Given the description of an element on the screen output the (x, y) to click on. 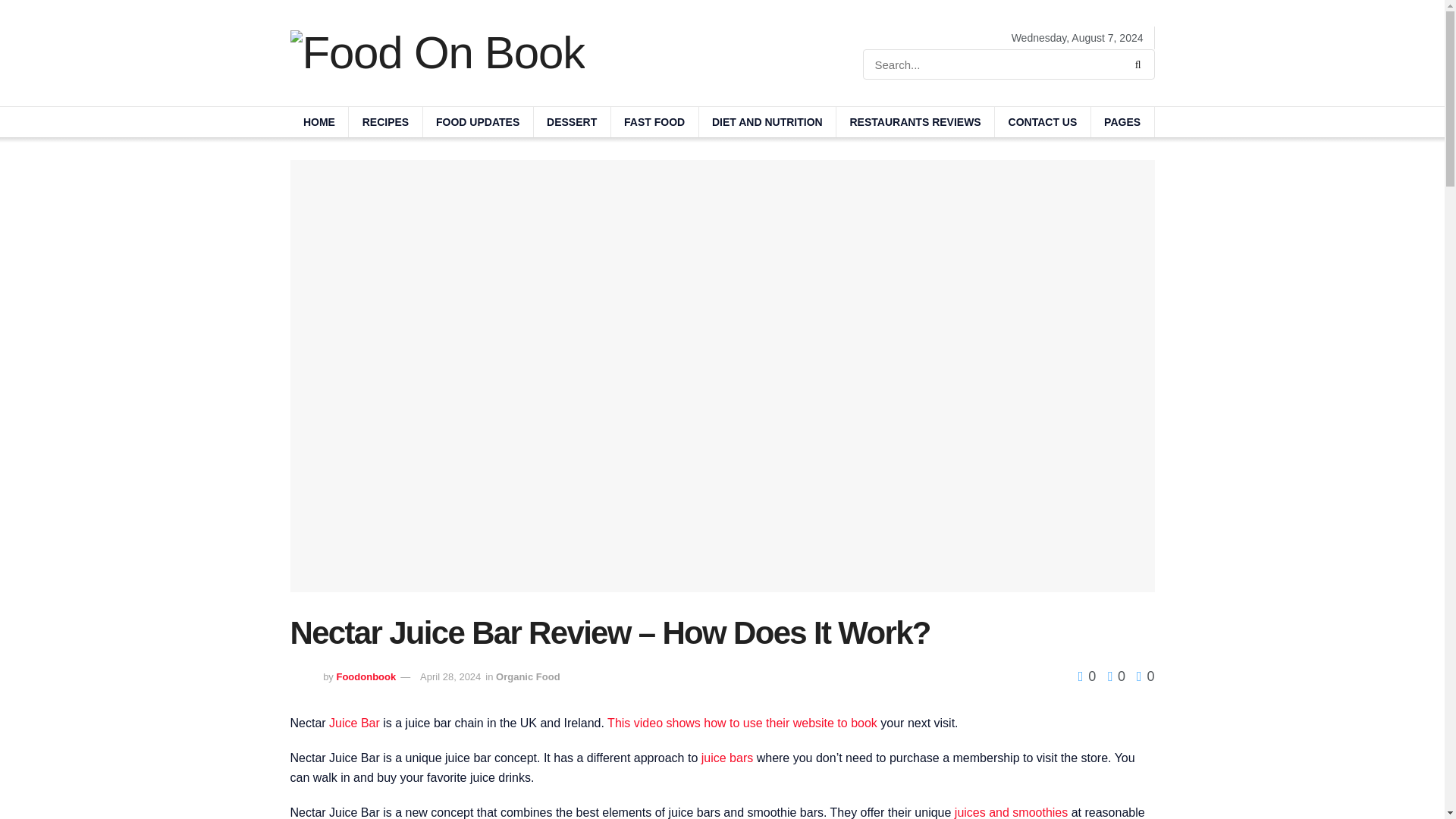
HOME (318, 122)
RECIPES (385, 122)
CONTACT US (1042, 122)
DIET AND NUTRITION (766, 122)
PAGES (1122, 122)
DESSERT (572, 122)
New juice bar opens in Flower Mound (726, 757)
RESTAURANTS REVIEWS (914, 122)
FAST FOOD (654, 122)
